Given the description of an element on the screen output the (x, y) to click on. 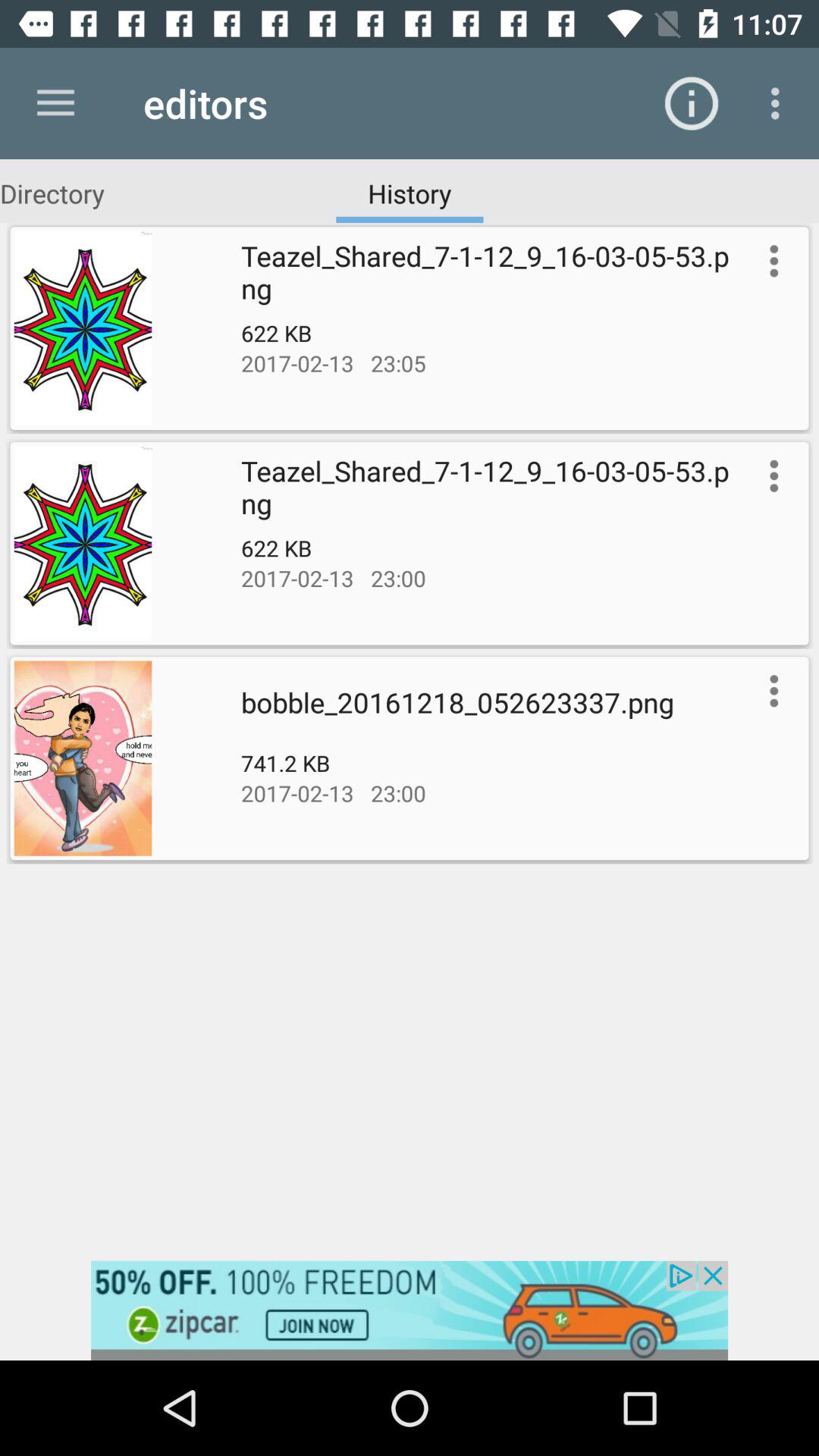
advertisements image (409, 1310)
